Given the description of an element on the screen output the (x, y) to click on. 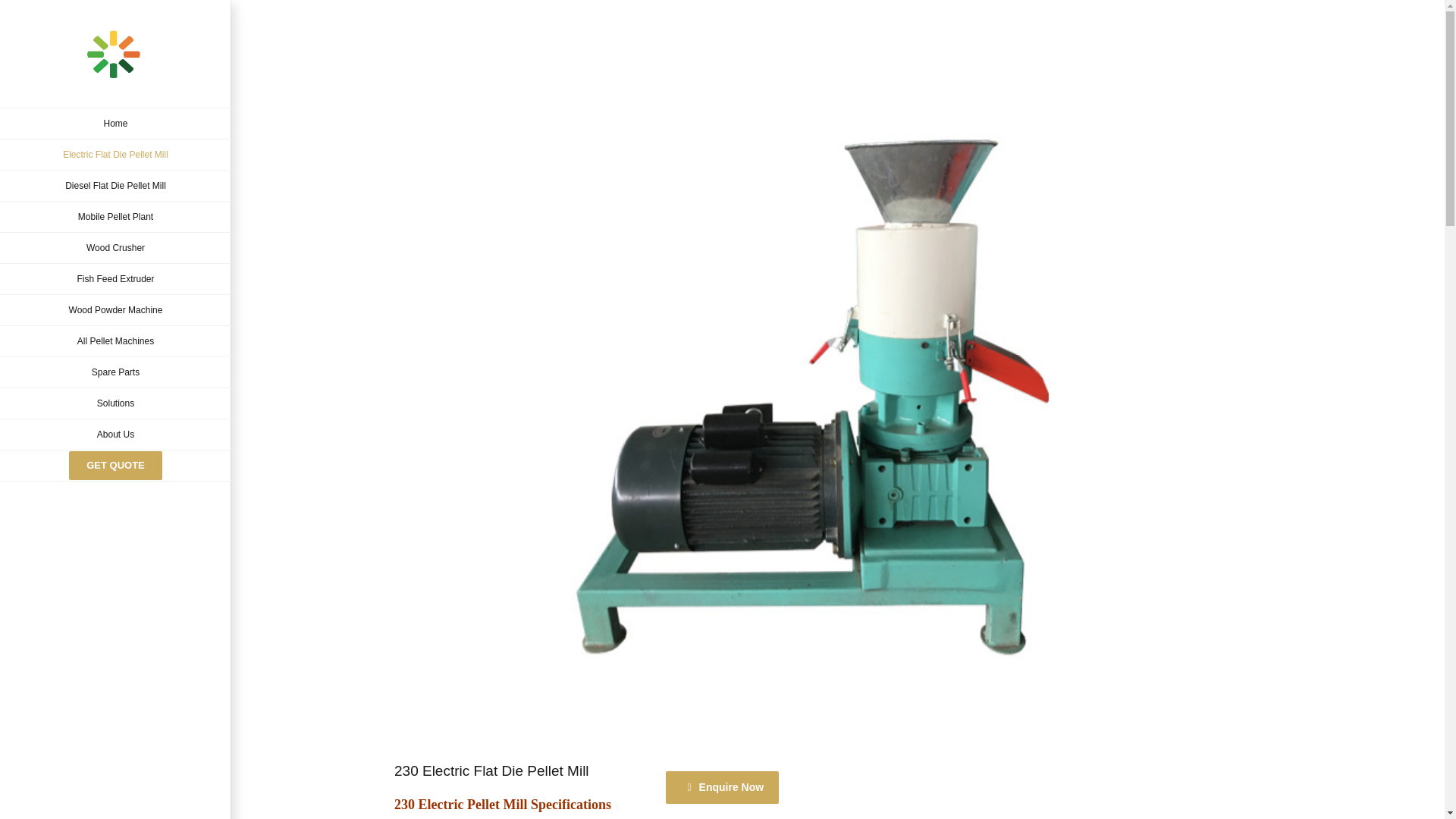
Solutions (115, 403)
Wood Crusher (115, 247)
Diesel Flat Die Pellet Mill (115, 185)
All Pellet Machines (115, 341)
About Us (115, 434)
Wood Powder Machine (115, 309)
Fish Feed Extruder (115, 278)
Electric Flat Die Pellet Mill (115, 154)
